Given the description of an element on the screen output the (x, y) to click on. 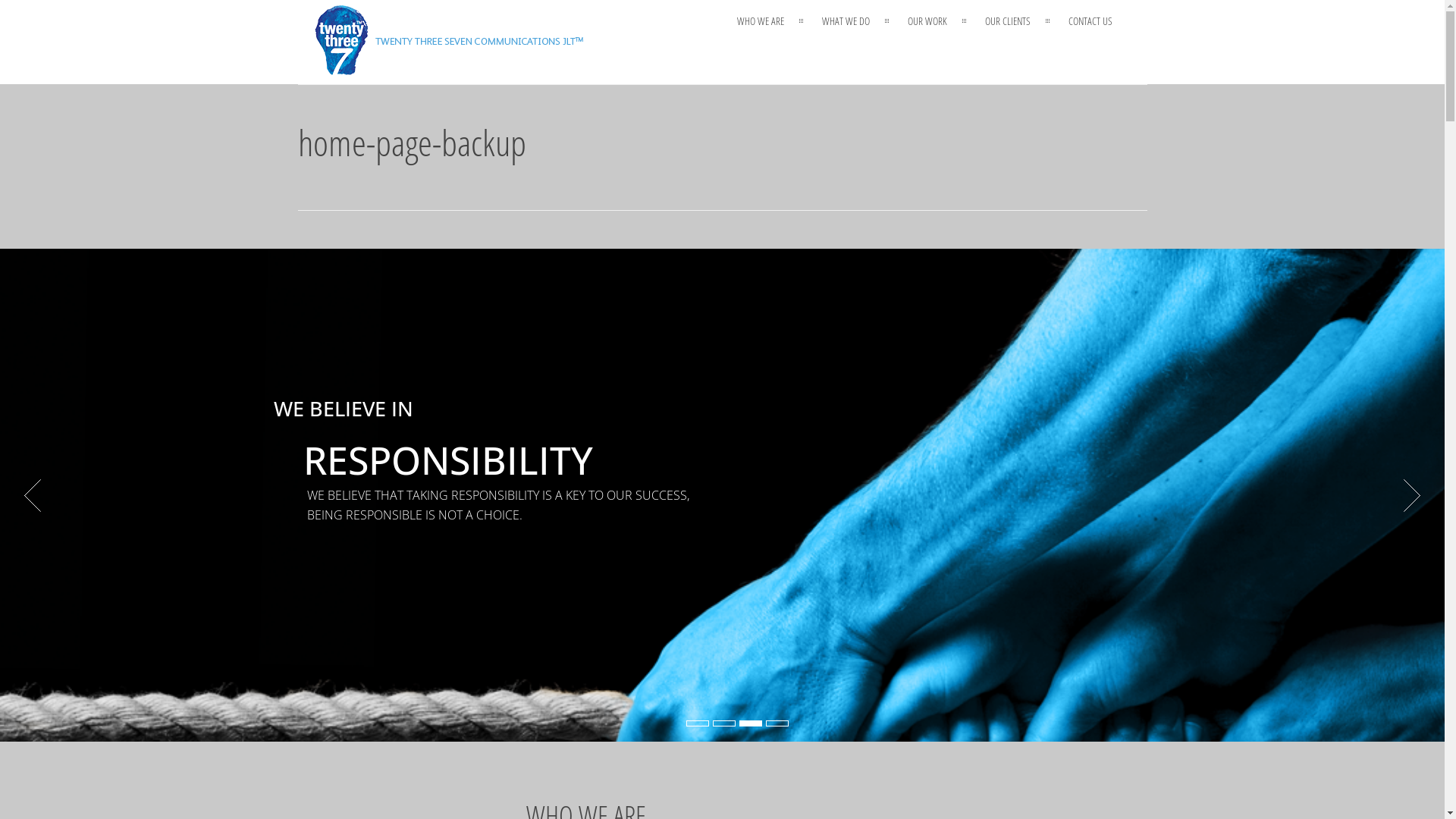
OUR WORK Element type: text (927, 20)
Comments feed Element type: text (938, 700)
Entries feed Element type: text (931, 677)
WHAT WE DO Element type: text (845, 20)
Search Element type: text (1129, 266)
WordPress.org Element type: text (936, 723)
237 Communications Element type: hover (448, 70)
CONTACT US Element type: text (1090, 20)
WHO WE ARE Element type: text (760, 20)
Log in Element type: text (919, 654)
OUR CLIENTS Element type: text (1007, 20)
